Given the description of an element on the screen output the (x, y) to click on. 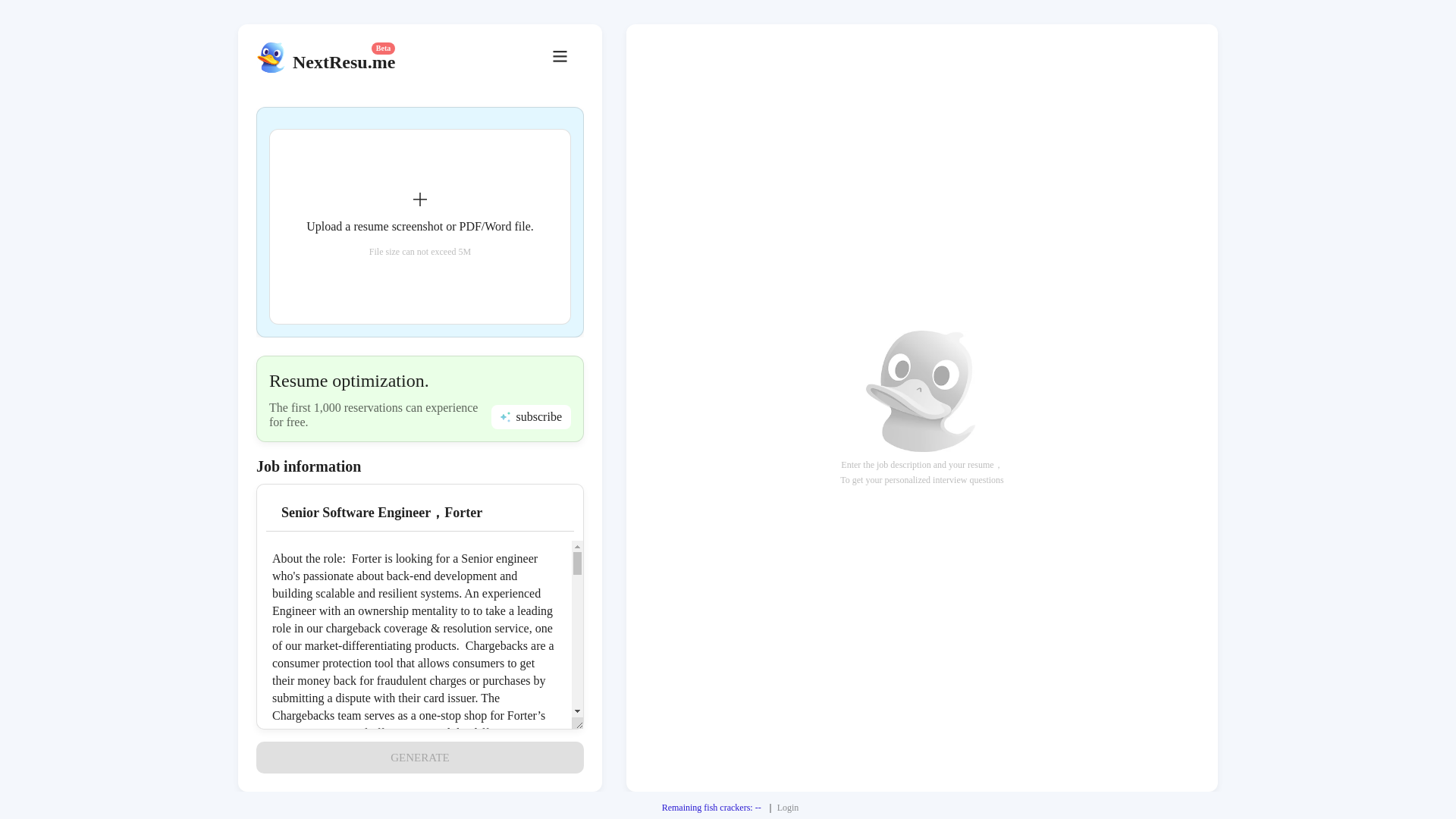
Login (788, 807)
GENERATE (419, 757)
Remaining fish crackers: -- (711, 807)
subscribe (531, 416)
